Given the description of an element on the screen output the (x, y) to click on. 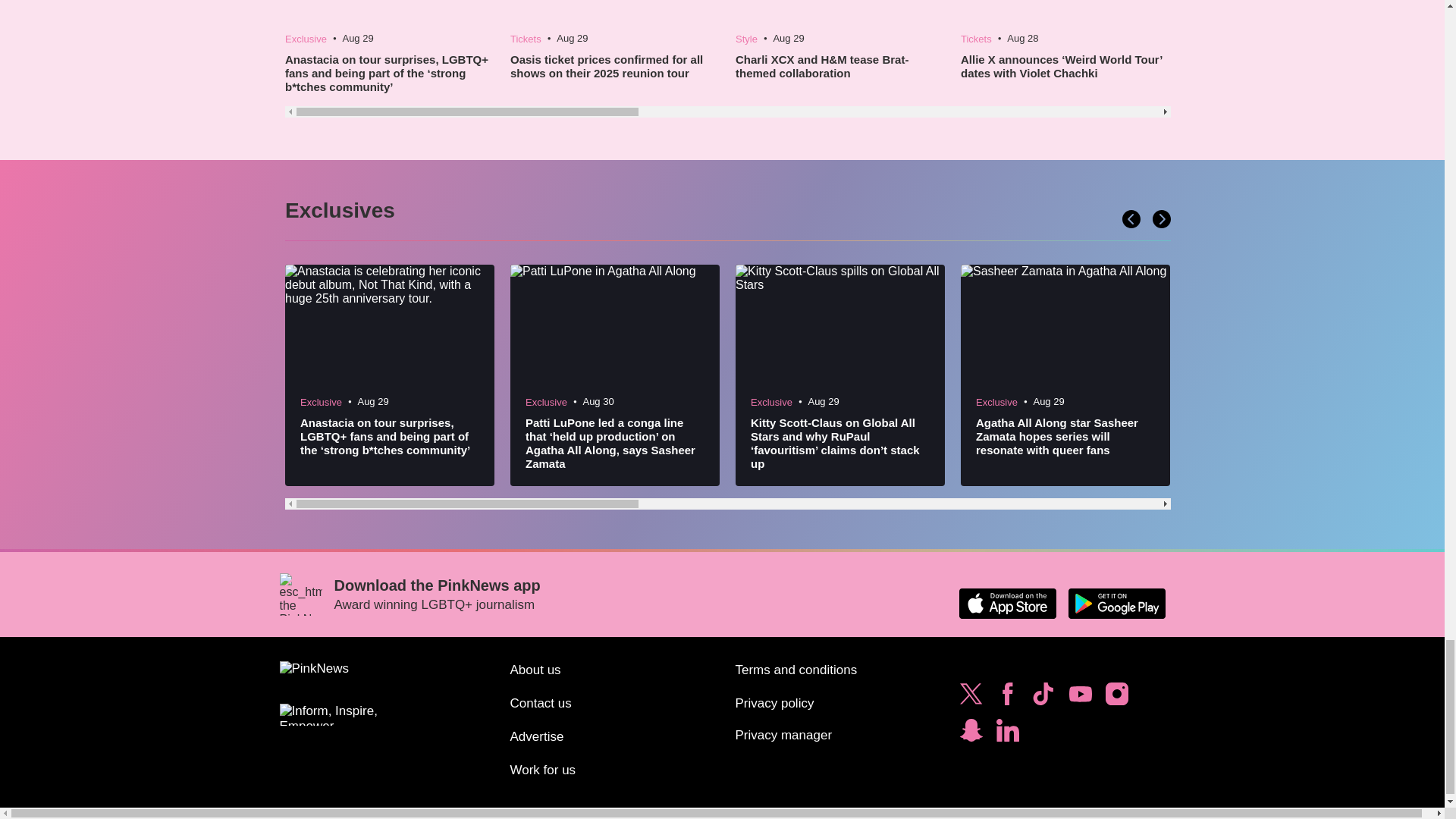
Download the PinkNews app on Google Play (1115, 603)
Subscribe to PinkNews on Snapchat (970, 733)
Follow PinkNews on TikTok (1042, 697)
Follow PinkNews on LinkedIn (1007, 733)
Follow PinkNews on Twitter (970, 697)
Download the PinkNews app on the Apple App Store (1006, 603)
Follow PinkNews on Instagram (1116, 697)
Subscribe to PinkNews on YouTube (1079, 697)
